Given the description of an element on the screen output the (x, y) to click on. 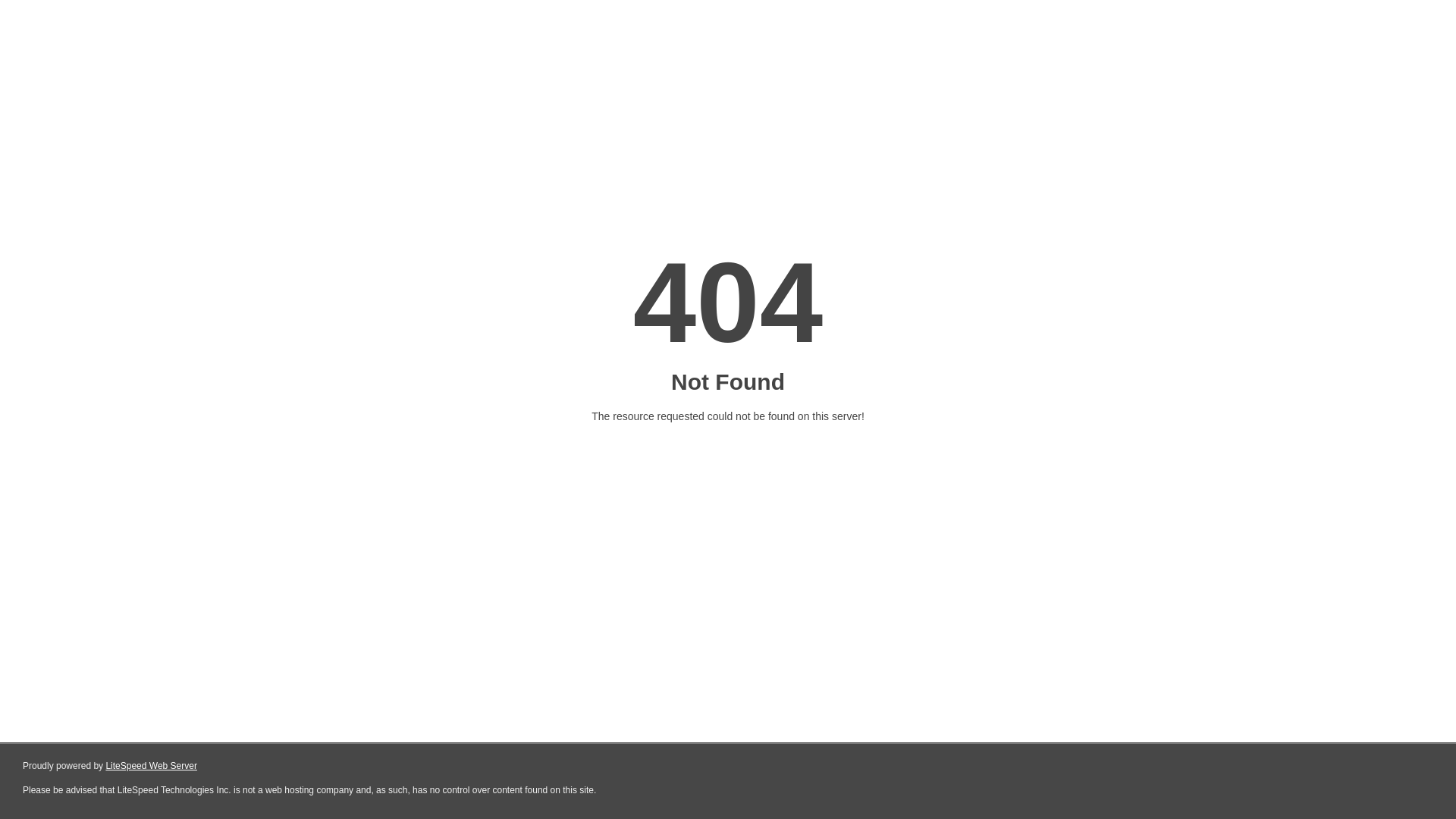
LiteSpeed Web Server Element type: text (151, 765)
